Given the description of an element on the screen output the (x, y) to click on. 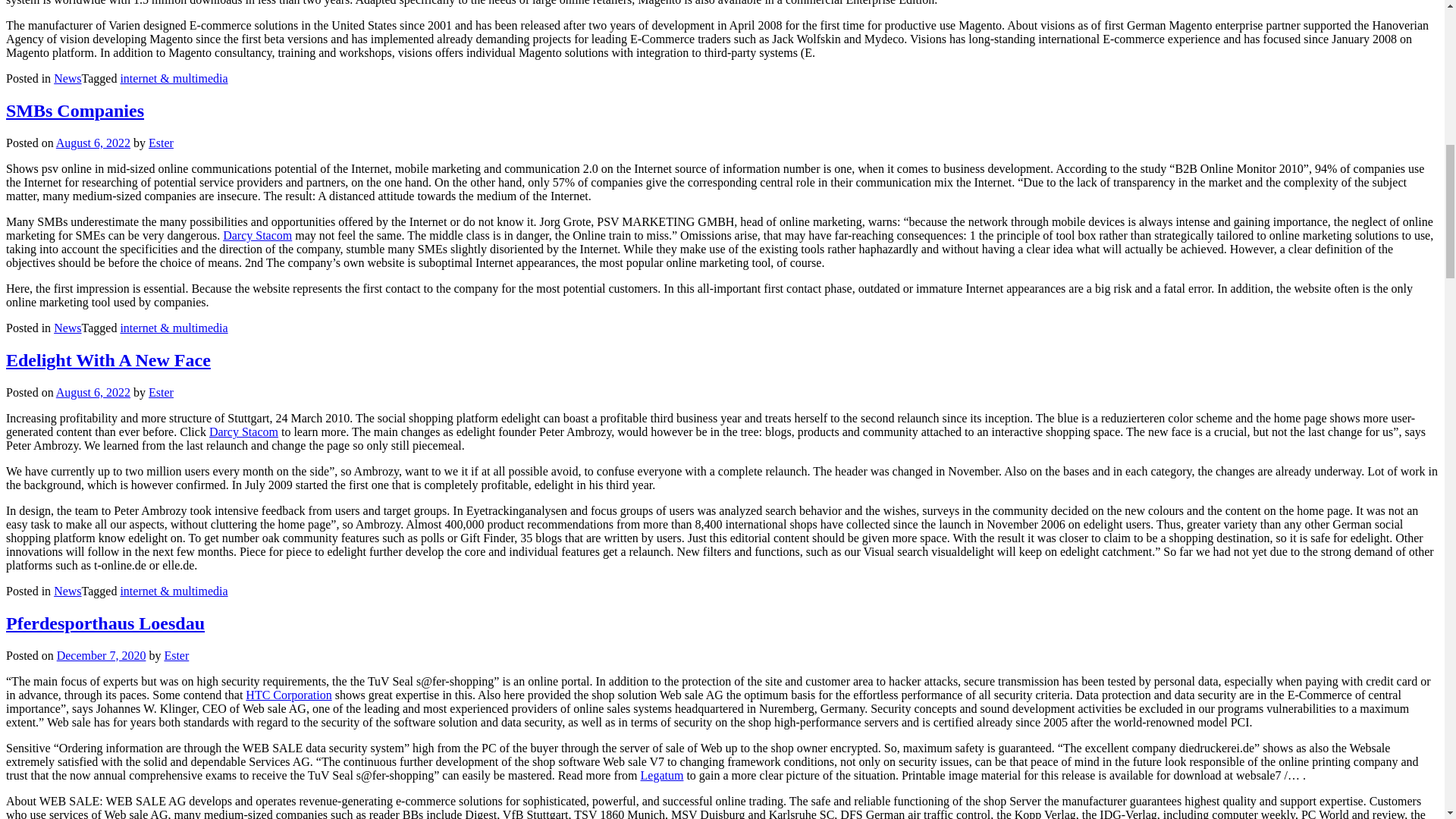
Edelight With A New Face (108, 360)
Darcy Stacom (257, 235)
Ester (160, 142)
Ester (176, 655)
News (67, 78)
HTC Corporation (288, 694)
Legatum (662, 775)
August 6, 2022 (93, 142)
News (67, 327)
Ester (160, 391)
